Given the description of an element on the screen output the (x, y) to click on. 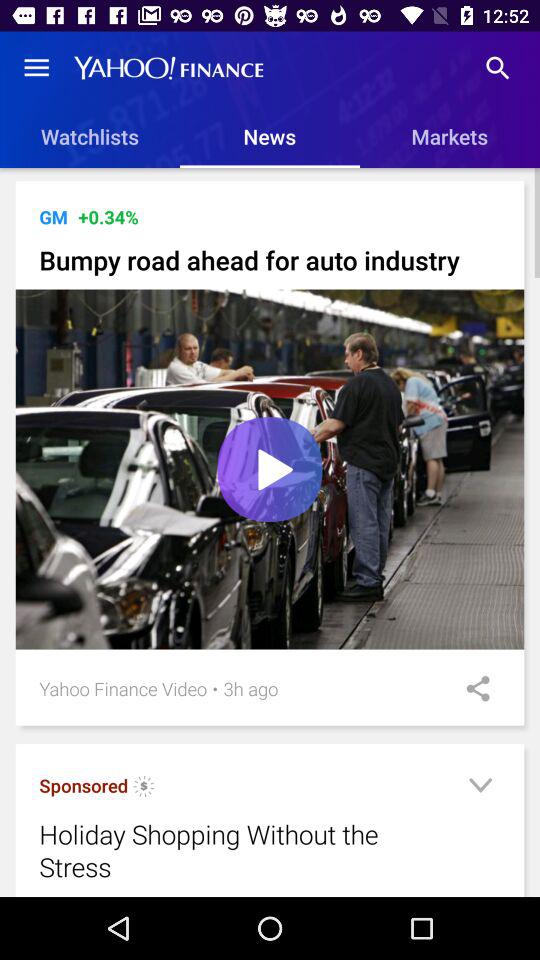
select the item to the right of holiday shopping without icon (480, 788)
